Given the description of an element on the screen output the (x, y) to click on. 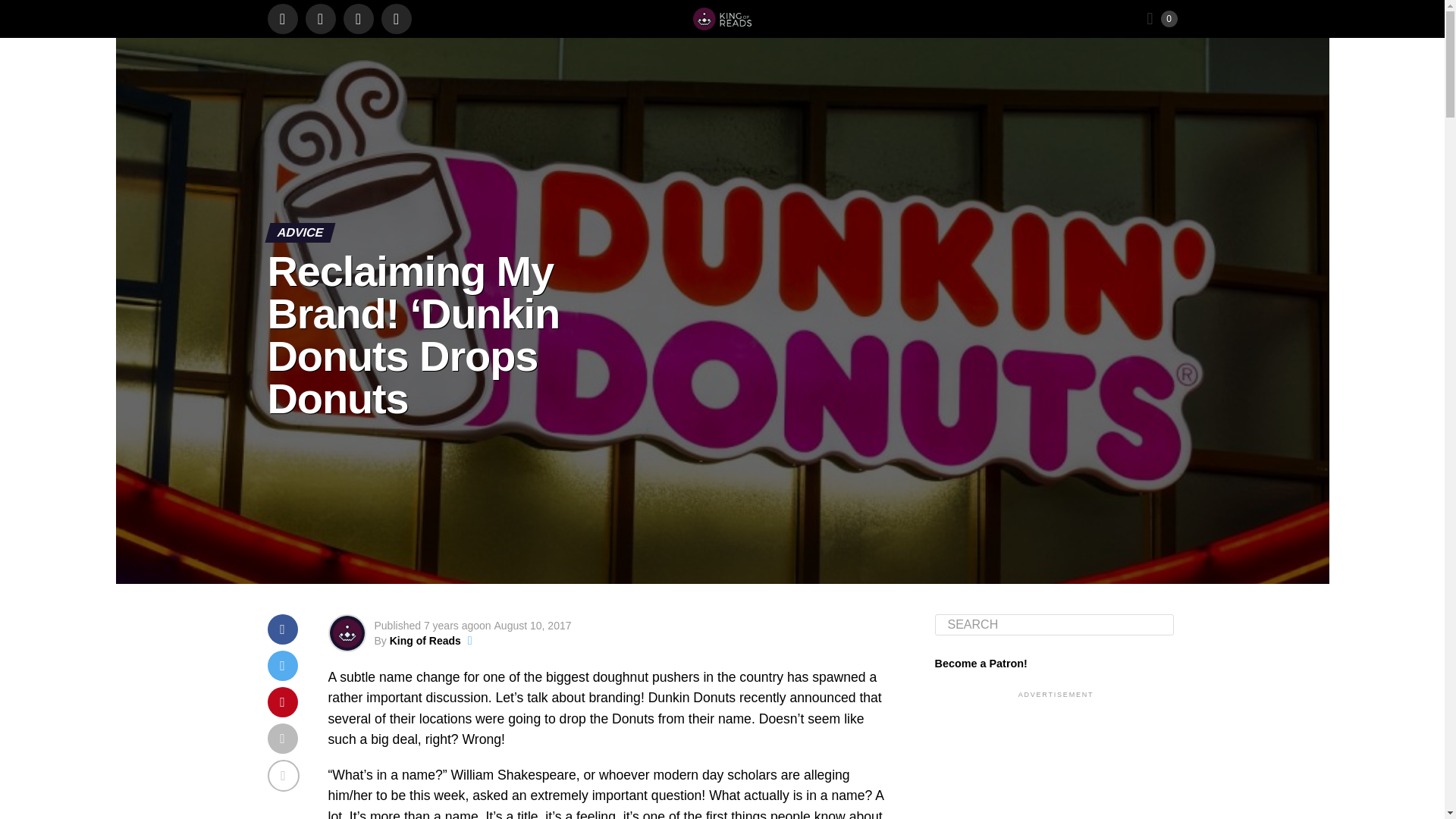
Posts by King of Reads (425, 640)
Search (1053, 624)
